Given the description of an element on the screen output the (x, y) to click on. 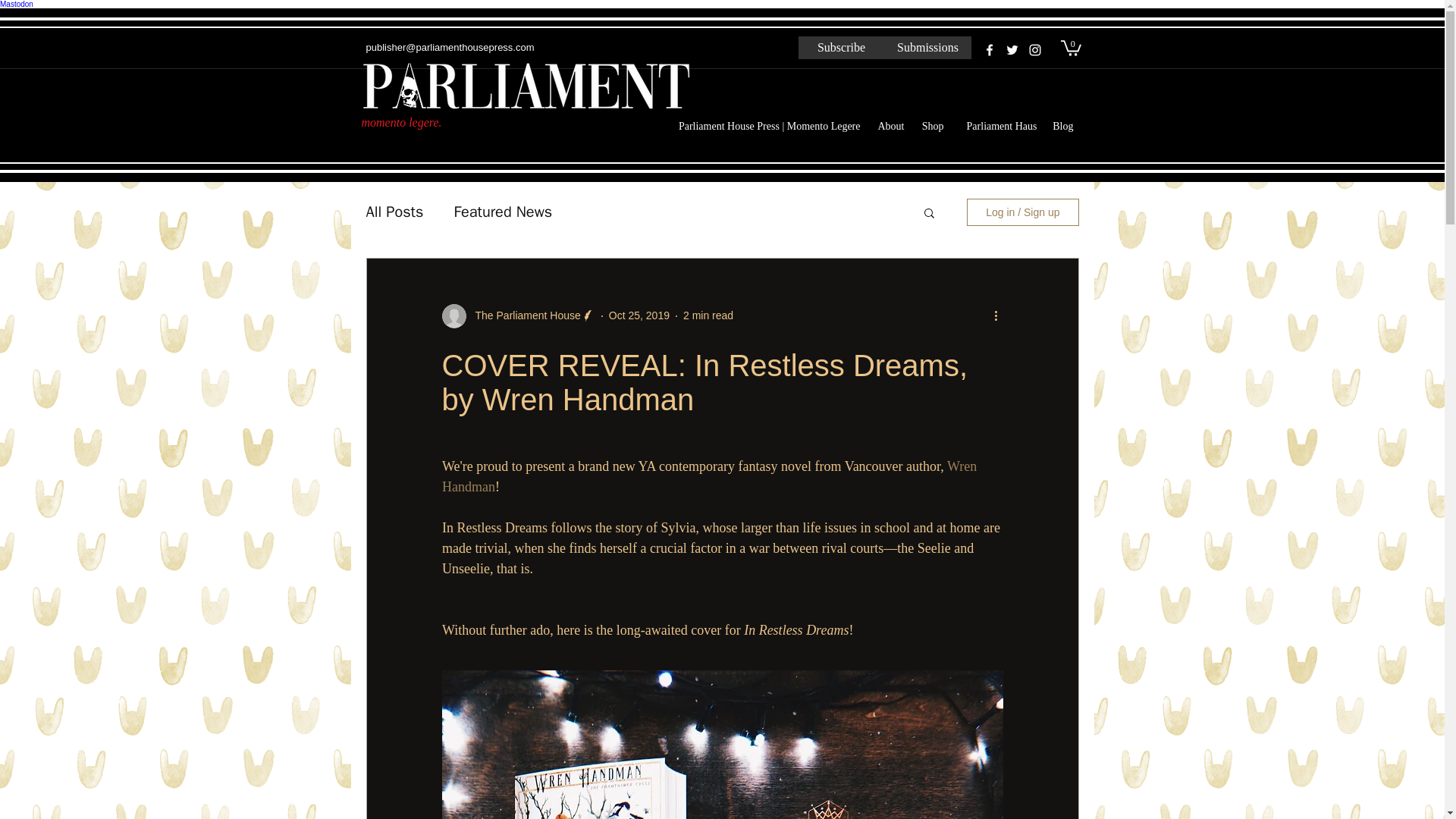
Blog (1063, 126)
Subscribe (840, 47)
Submissions (927, 47)
Featured News (501, 211)
Shop (930, 126)
The Parliament House (522, 315)
All Posts (394, 211)
0 (1069, 47)
Parliament Haus (996, 126)
2 min read (707, 315)
